Given the description of an element on the screen output the (x, y) to click on. 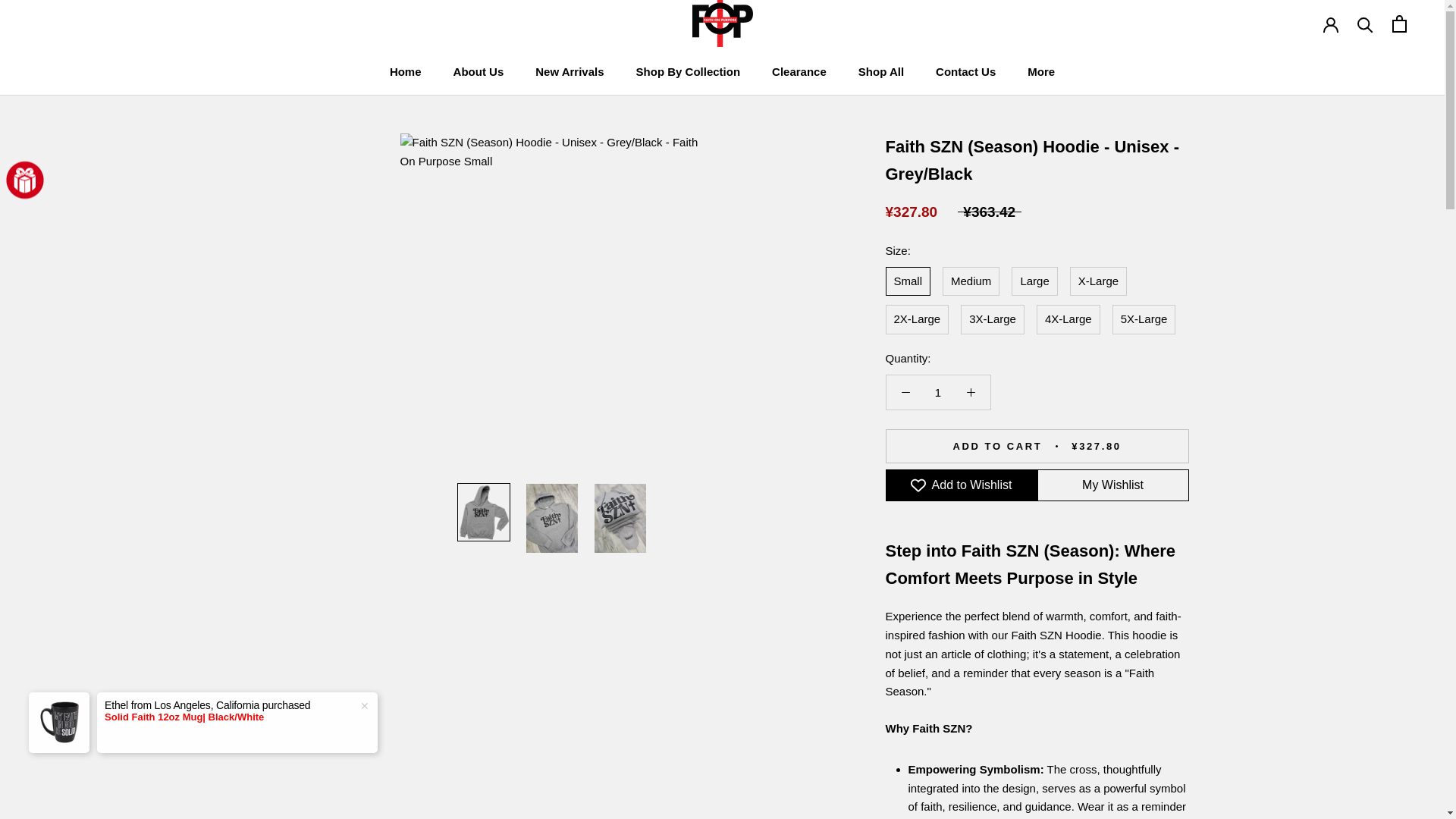
1 (938, 391)
